Given the description of an element on the screen output the (x, y) to click on. 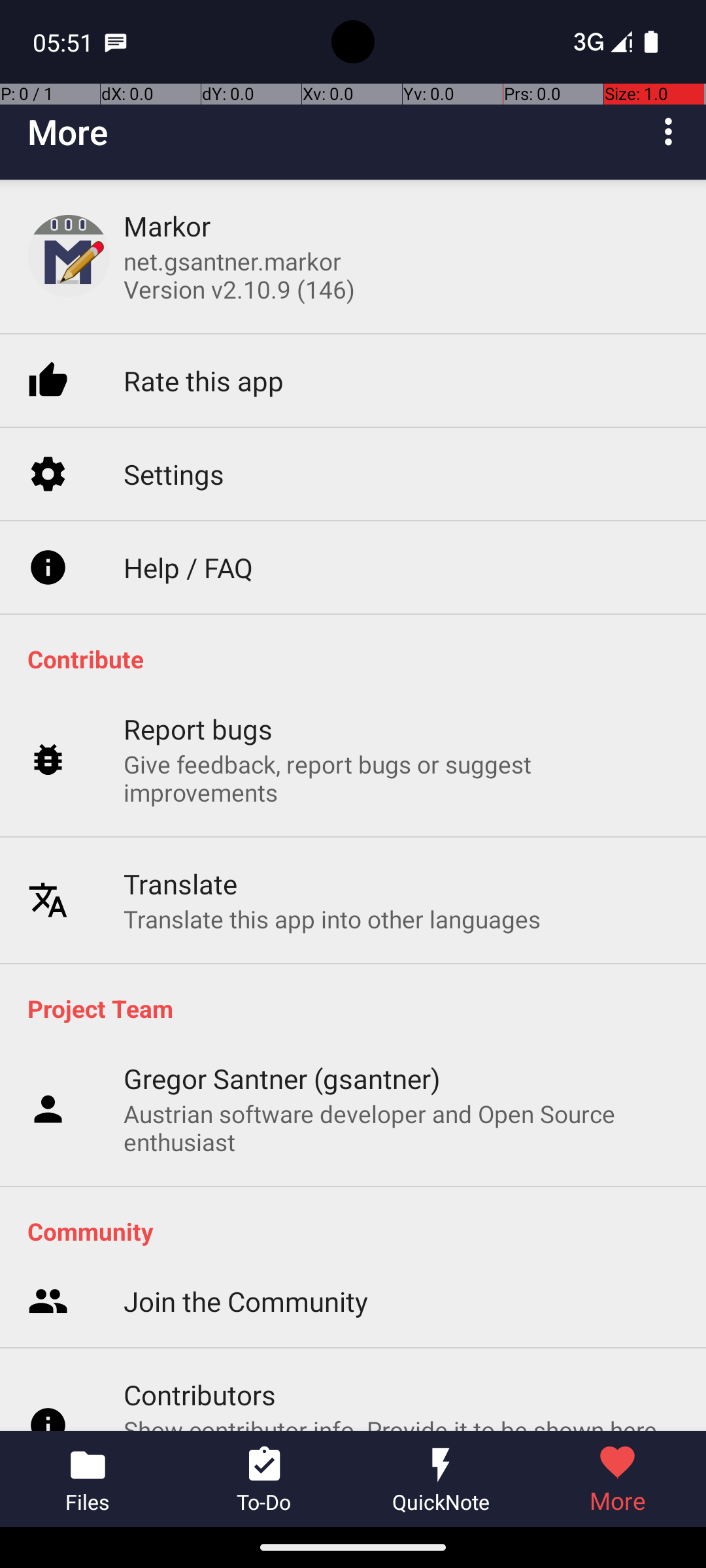
Contribute Element type: android.widget.TextView (359, 658)
Project Team Element type: android.widget.TextView (359, 1008)
Community Element type: android.widget.TextView (359, 1230)
net.gsantner.markor
Version v2.10.9 (146) Element type: android.widget.TextView (239, 274)
Rate this app Element type: android.widget.TextView (203, 380)
Help / FAQ Element type: android.widget.TextView (188, 567)
Report bugs Element type: android.widget.TextView (198, 728)
Give feedback, report bugs or suggest improvements Element type: android.widget.TextView (400, 777)
Translate Element type: android.widget.TextView (180, 883)
Translate this app into other languages Element type: android.widget.TextView (331, 918)
Gregor Santner (gsantner) Element type: android.widget.TextView (281, 1077)
Austrian software developer and Open Source enthusiast Element type: android.widget.TextView (400, 1127)
Join the Community Element type: android.widget.TextView (245, 1300)
Contributors Element type: android.widget.TextView (199, 1394)
Show contributor info. Provide it to be shown here on an opt-in basis after contributing Element type: android.widget.TextView (400, 1421)
05:51 Element type: android.widget.TextView (64, 41)
